Given the description of an element on the screen output the (x, y) to click on. 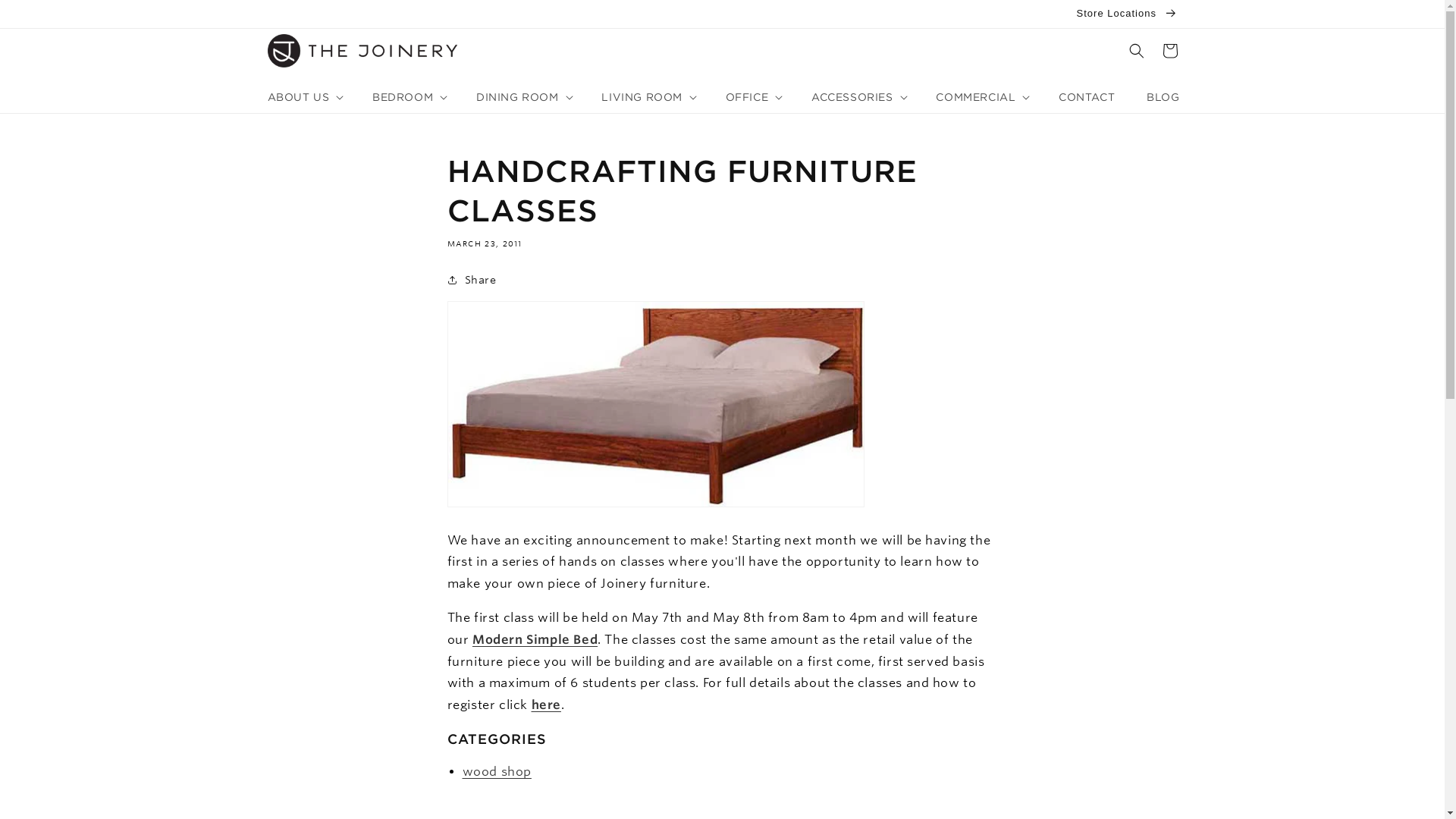
Skip to content (45, 17)
